Given the description of an element on the screen output the (x, y) to click on. 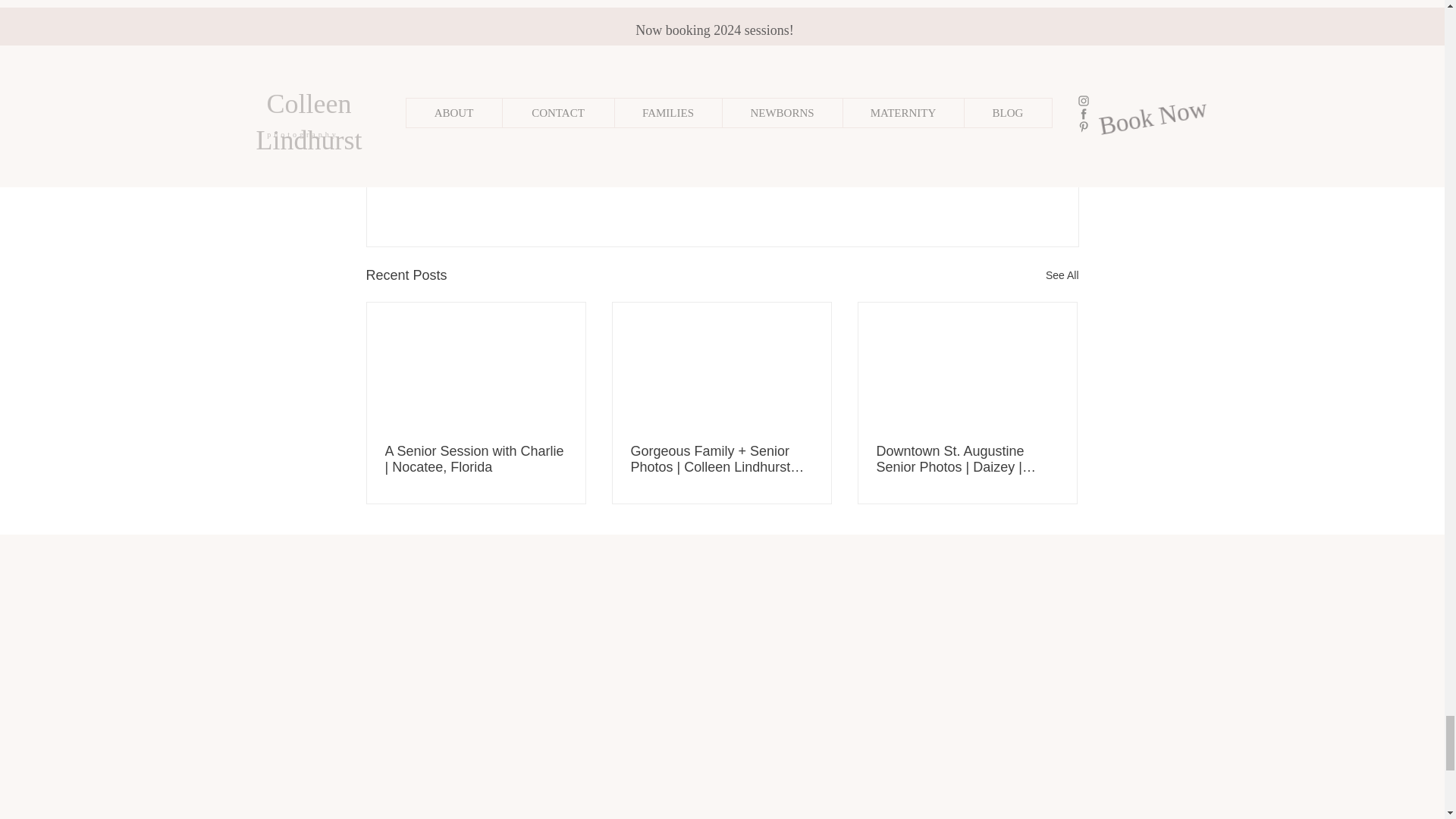
See All (1061, 275)
senior photos portfolio. (795, 5)
